Given the description of an element on the screen output the (x, y) to click on. 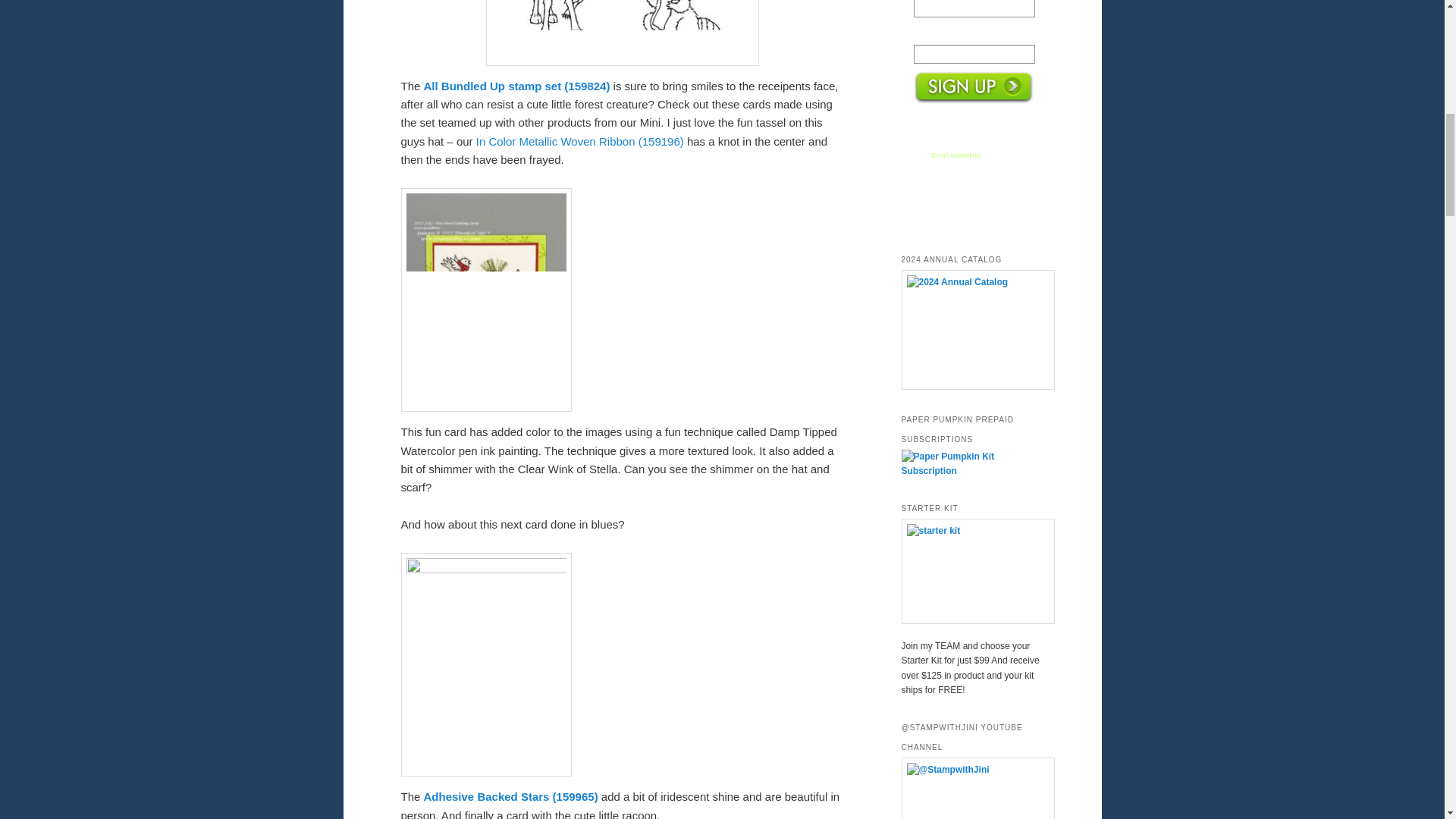
Paper Pumpkin Prepaid Subscriptions (972, 470)
2024 Annual Catalog  (972, 329)
starter kit (972, 571)
Email Marketing (955, 154)
